Given the description of an element on the screen output the (x, y) to click on. 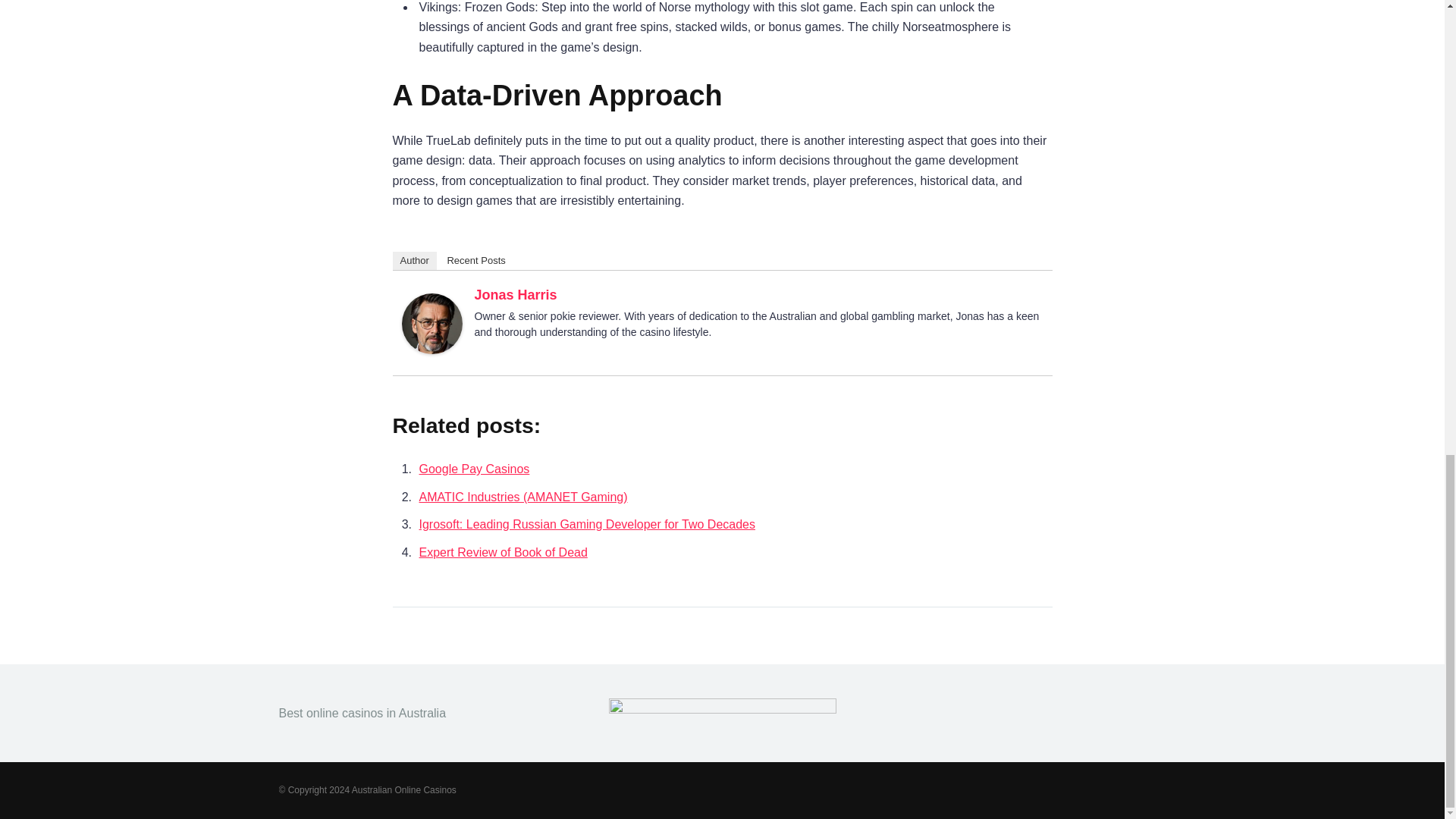
Expert Review of Book of Dead (502, 552)
Igrosoft: Leading Russian Gaming Developer for Two Decades (587, 523)
Google Pay Casinos (474, 468)
Jonas Harris (432, 349)
